Given the description of an element on the screen output the (x, y) to click on. 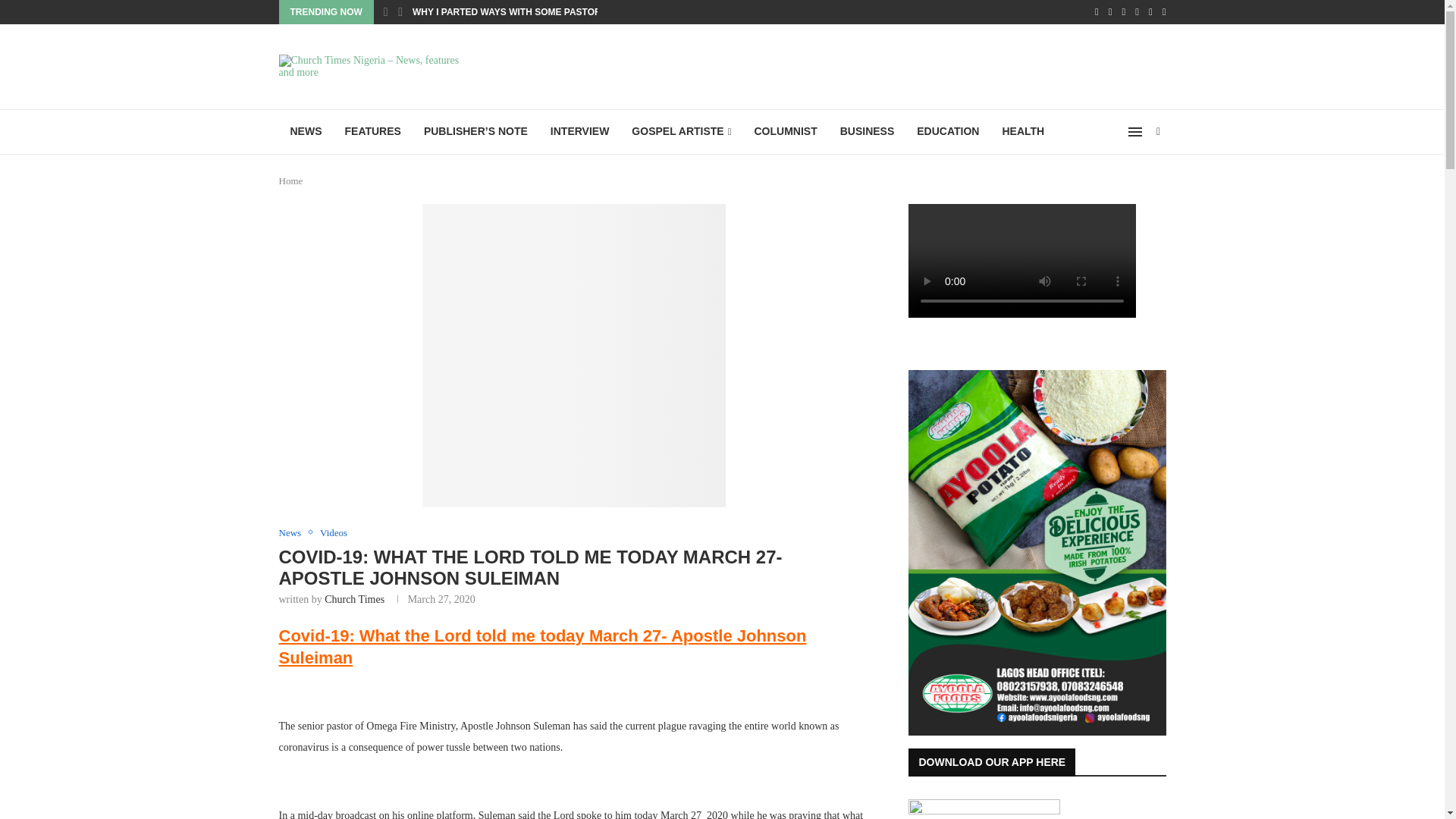
GOSPEL ARTISTE (681, 131)
NEWS (306, 131)
Videos (333, 532)
Covid 19: What the Lord told me this today March 27 (573, 354)
News (293, 532)
INTERVIEW (579, 131)
Home (290, 180)
EDUCATION (947, 131)
COLUMNIST (785, 131)
WHY I PARTED WAYS WITH SOME PASTORS -ENENCHE (535, 12)
